Given the description of an element on the screen output the (x, y) to click on. 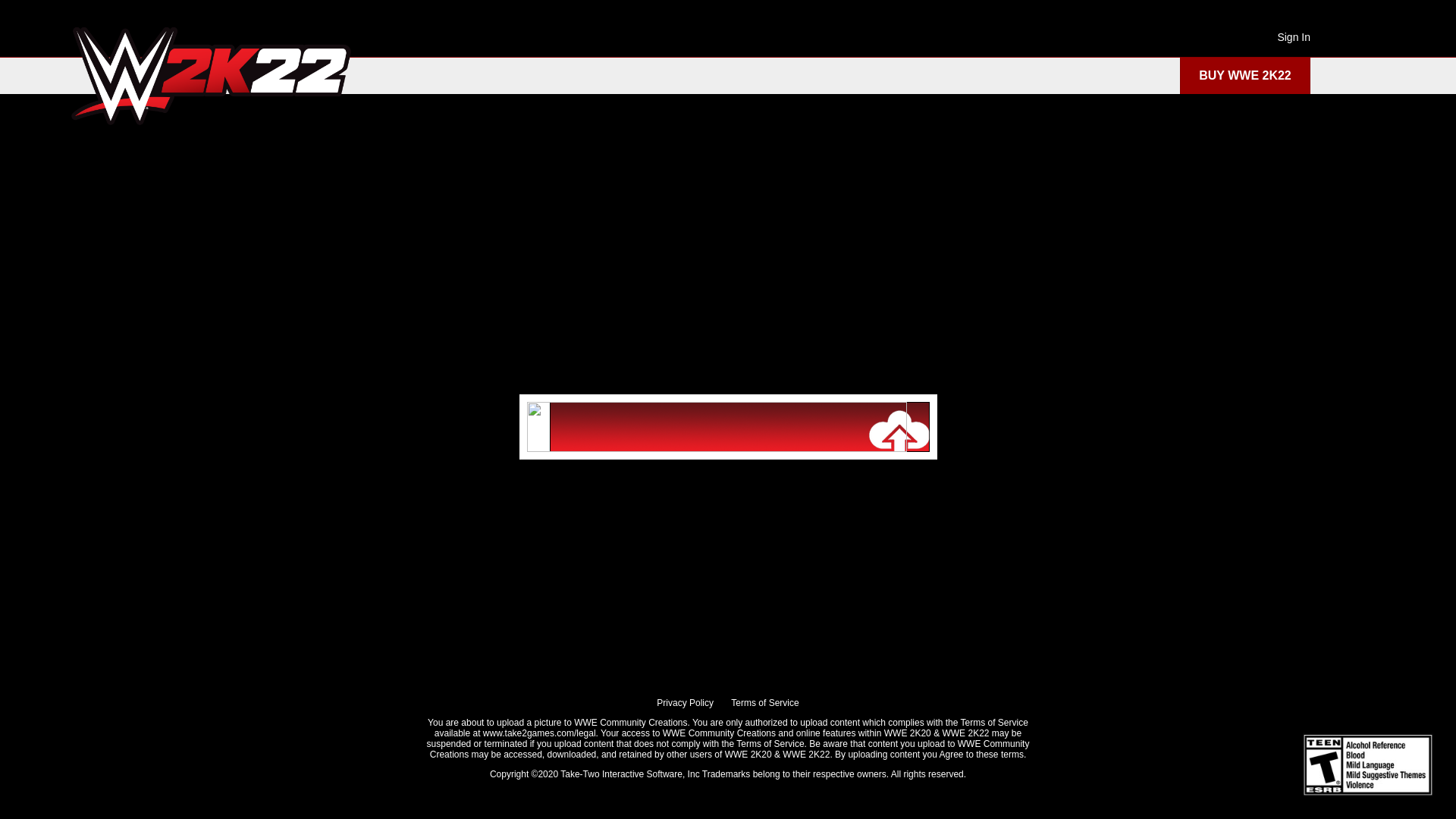
Privacy Policy Element type: text (684, 702)
BUY WWE 2K22 Element type: text (1244, 75)
Sign In Element type: text (1293, 37)
Terms of Service Element type: text (764, 702)
